Given the description of an element on the screen output the (x, y) to click on. 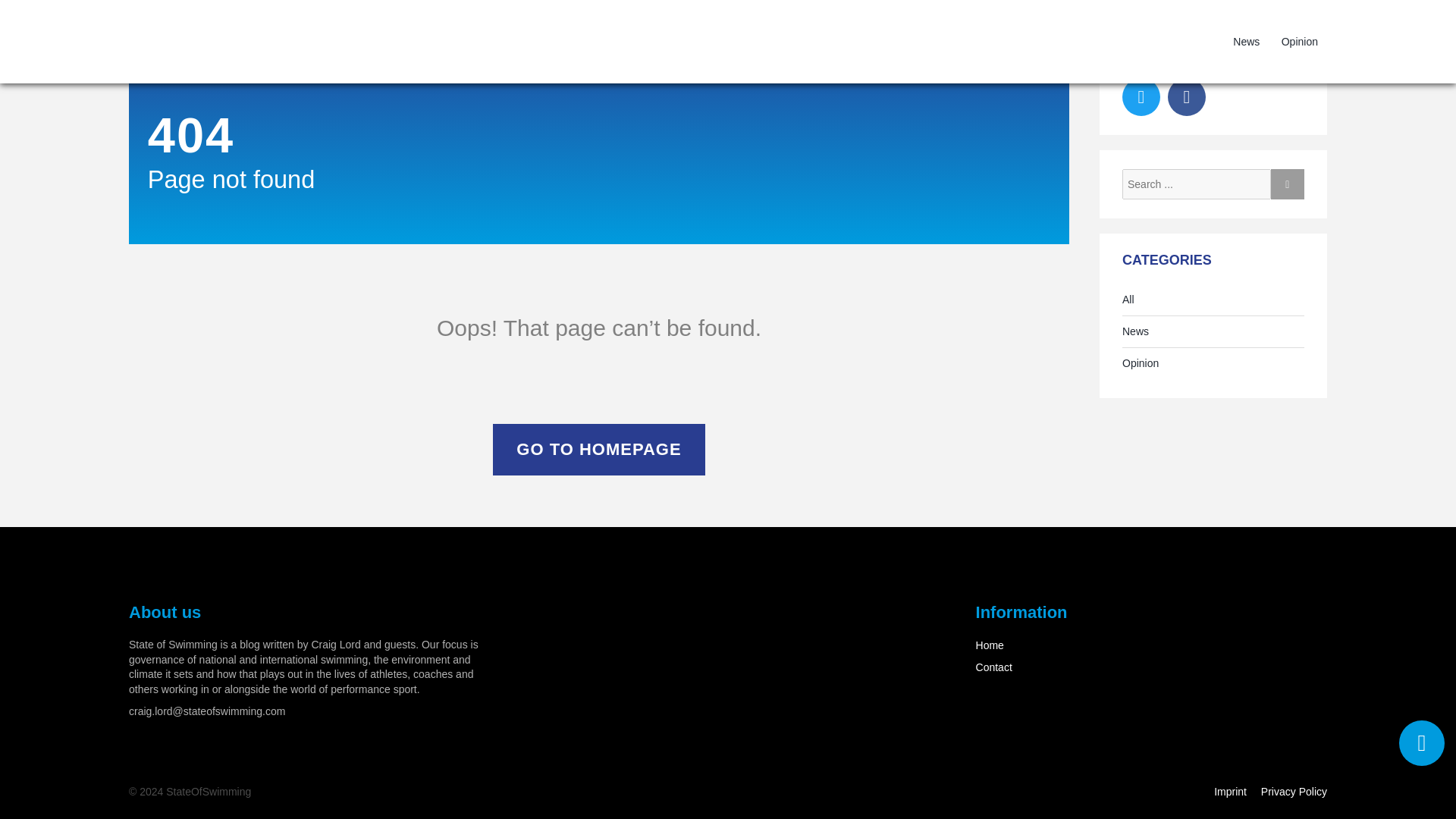
GO TO HOMEPAGE (598, 449)
Opinion (1140, 363)
News (1246, 40)
Opinion (1299, 40)
Homepage (337, 41)
